Given the description of an element on the screen output the (x, y) to click on. 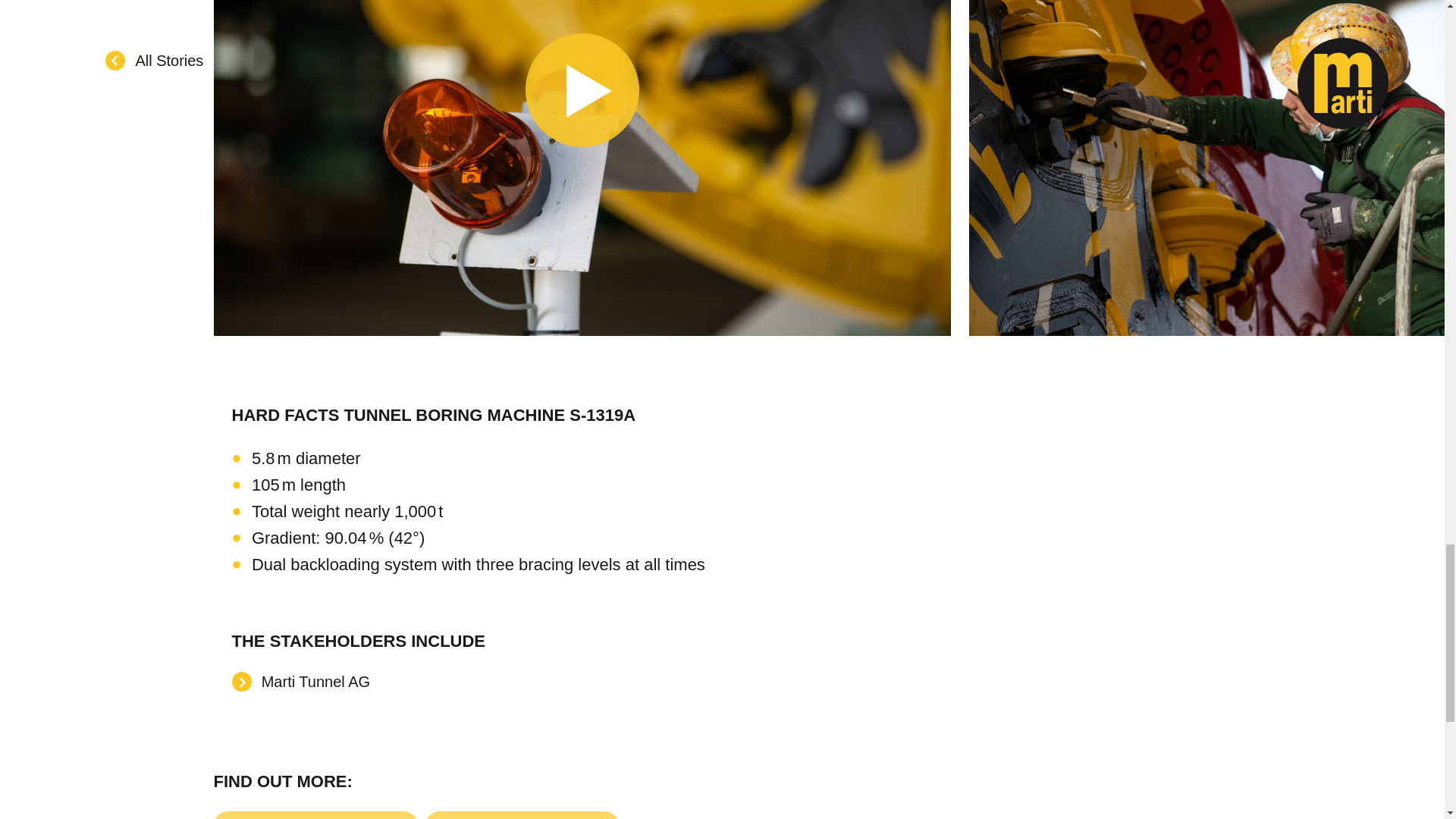
TUNNEL CONSTRUCTION (521, 815)
TUNNEL BORING MACHINE (316, 815)
Marti Tunnel AG (300, 681)
